Given the description of an element on the screen output the (x, y) to click on. 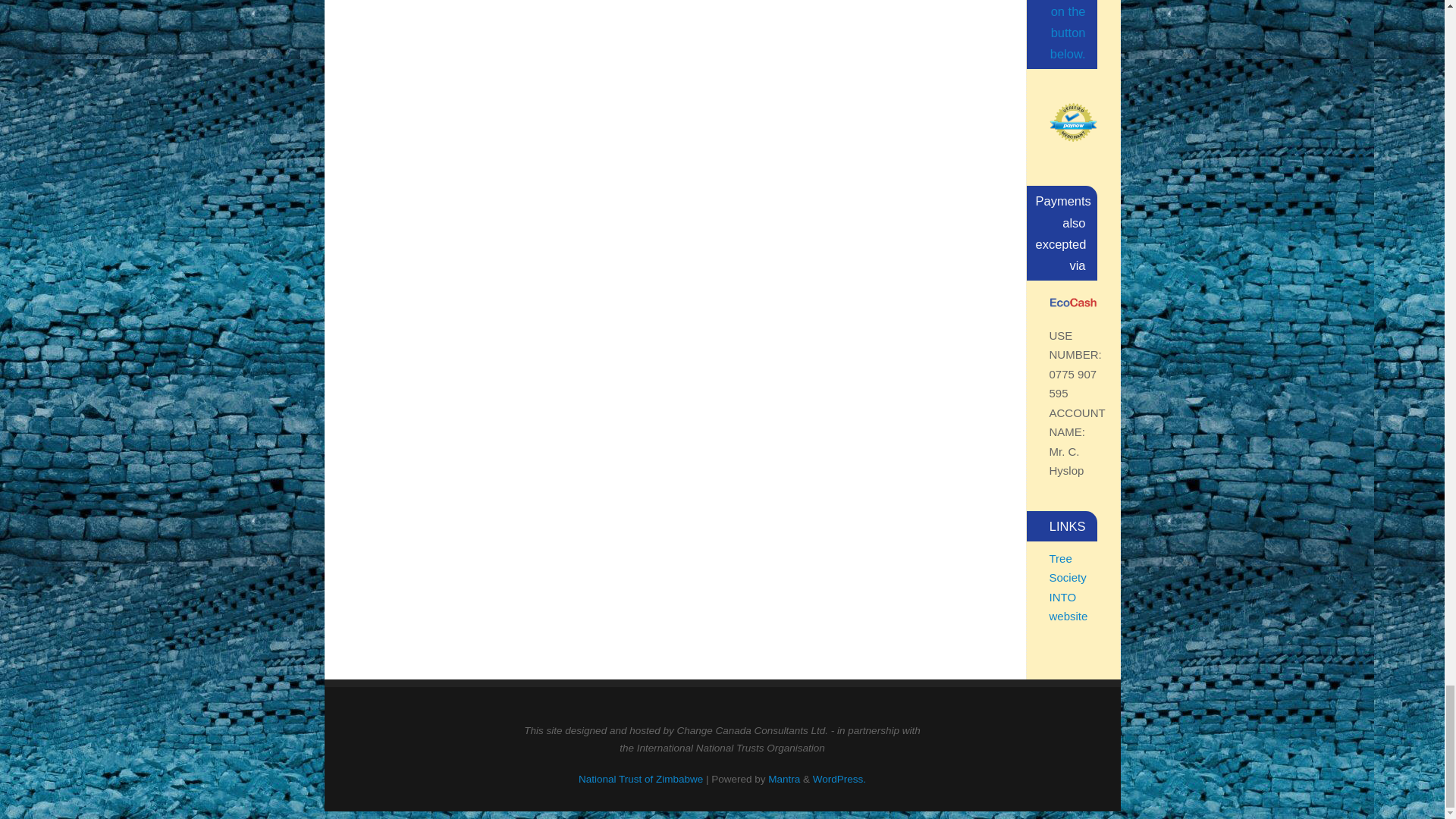
National Trust of Zimbabwe (640, 778)
Mantra Theme by Cryout Creations (783, 778)
Semantic Personal Publishing Platform (839, 778)
